Given the description of an element on the screen output the (x, y) to click on. 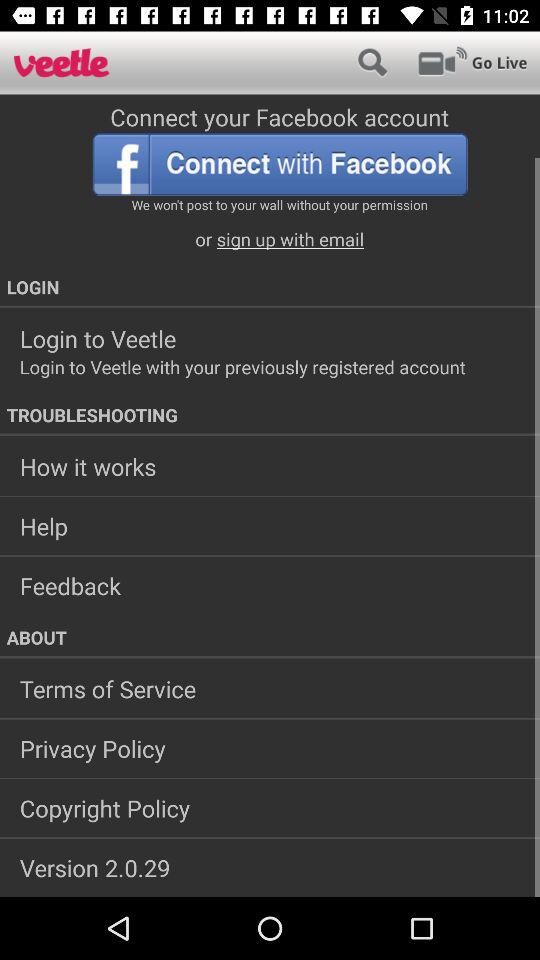
choose the icon above how it works (270, 415)
